Given the description of an element on the screen output the (x, y) to click on. 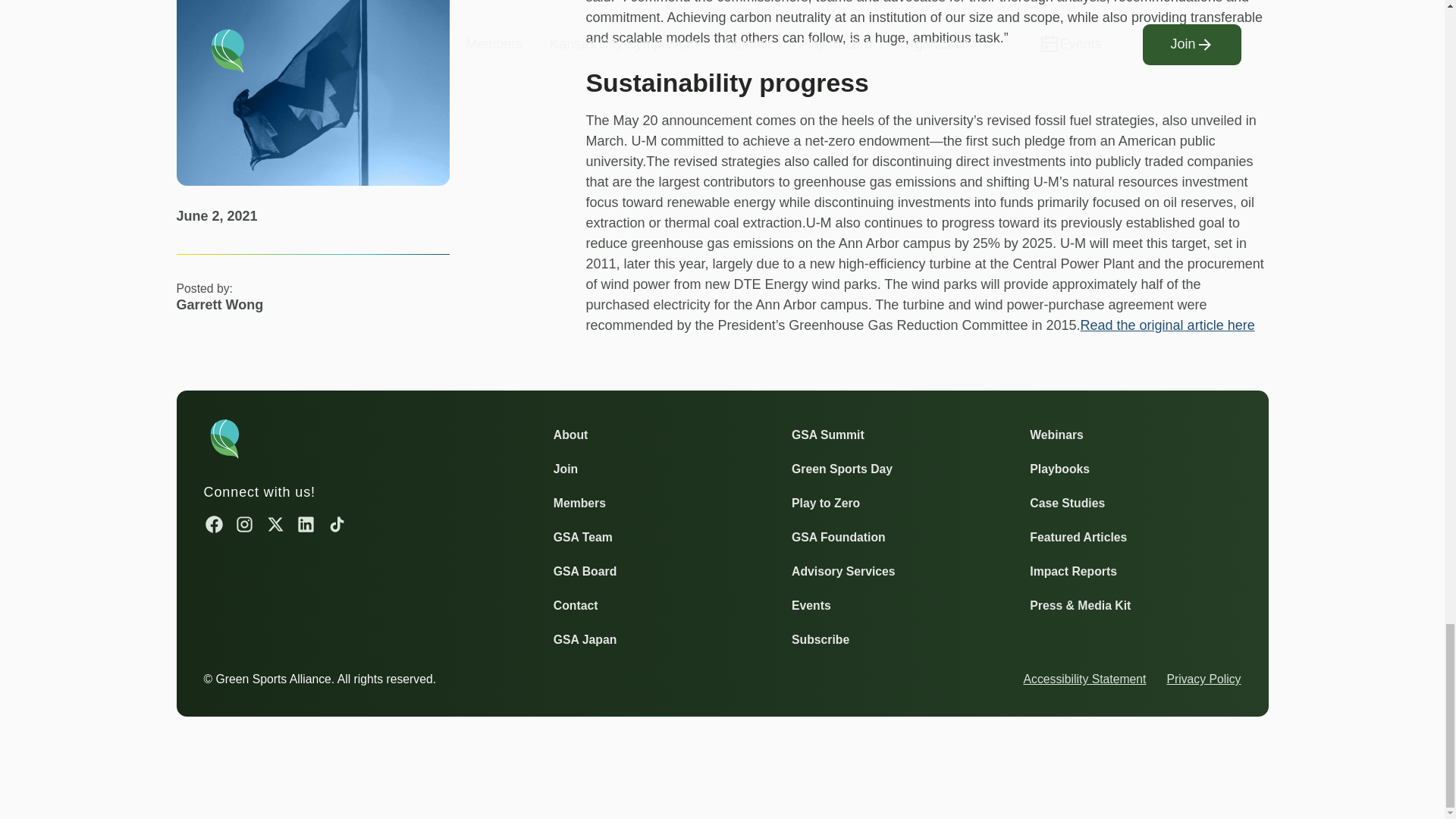
Read the original article here (1167, 324)
About (570, 435)
Join (565, 468)
